Given the description of an element on the screen output the (x, y) to click on. 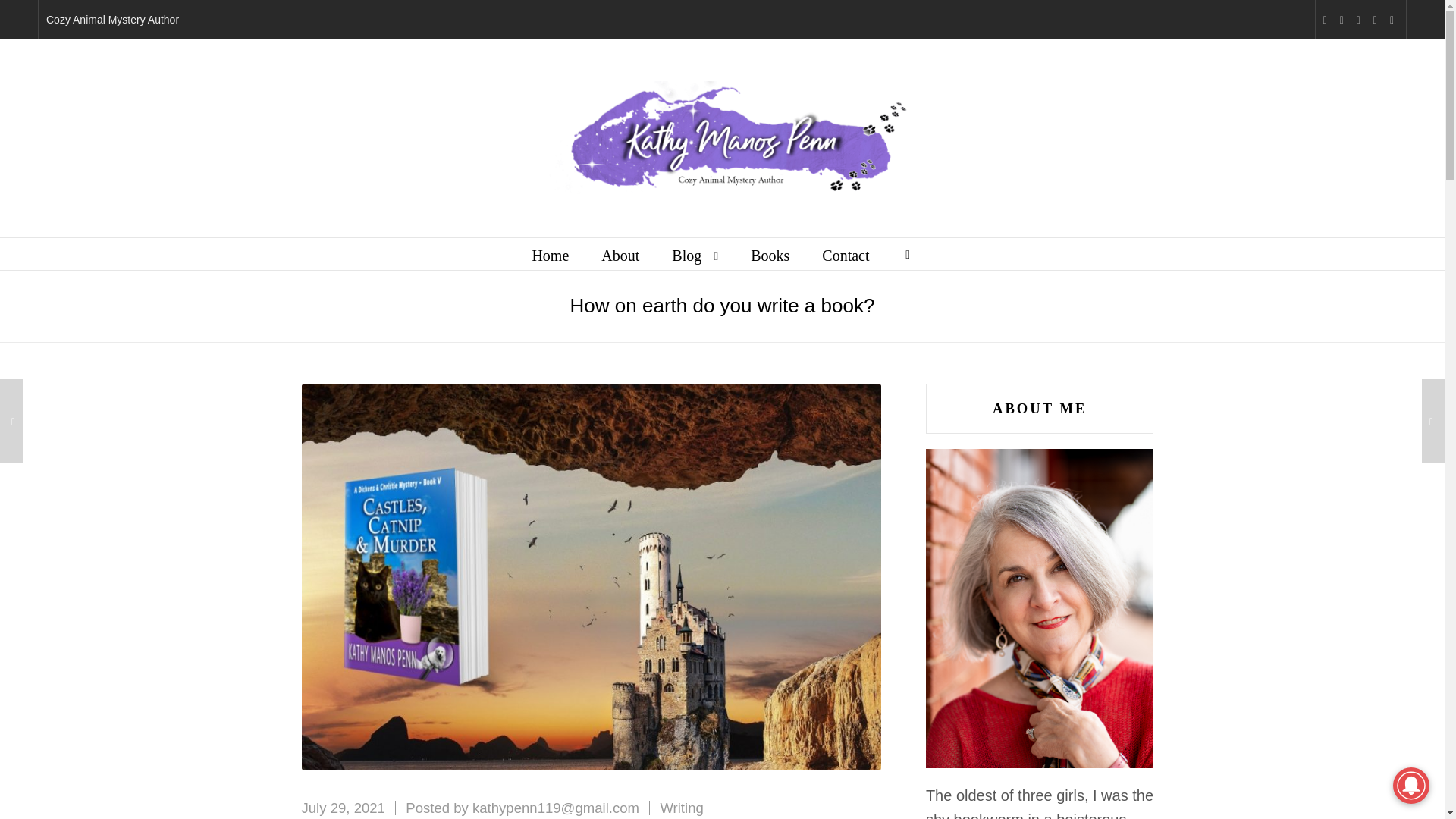
Home (550, 254)
Books (769, 254)
Blog (695, 254)
Writing (681, 807)
Contact (845, 254)
About (620, 254)
